Given the description of an element on the screen output the (x, y) to click on. 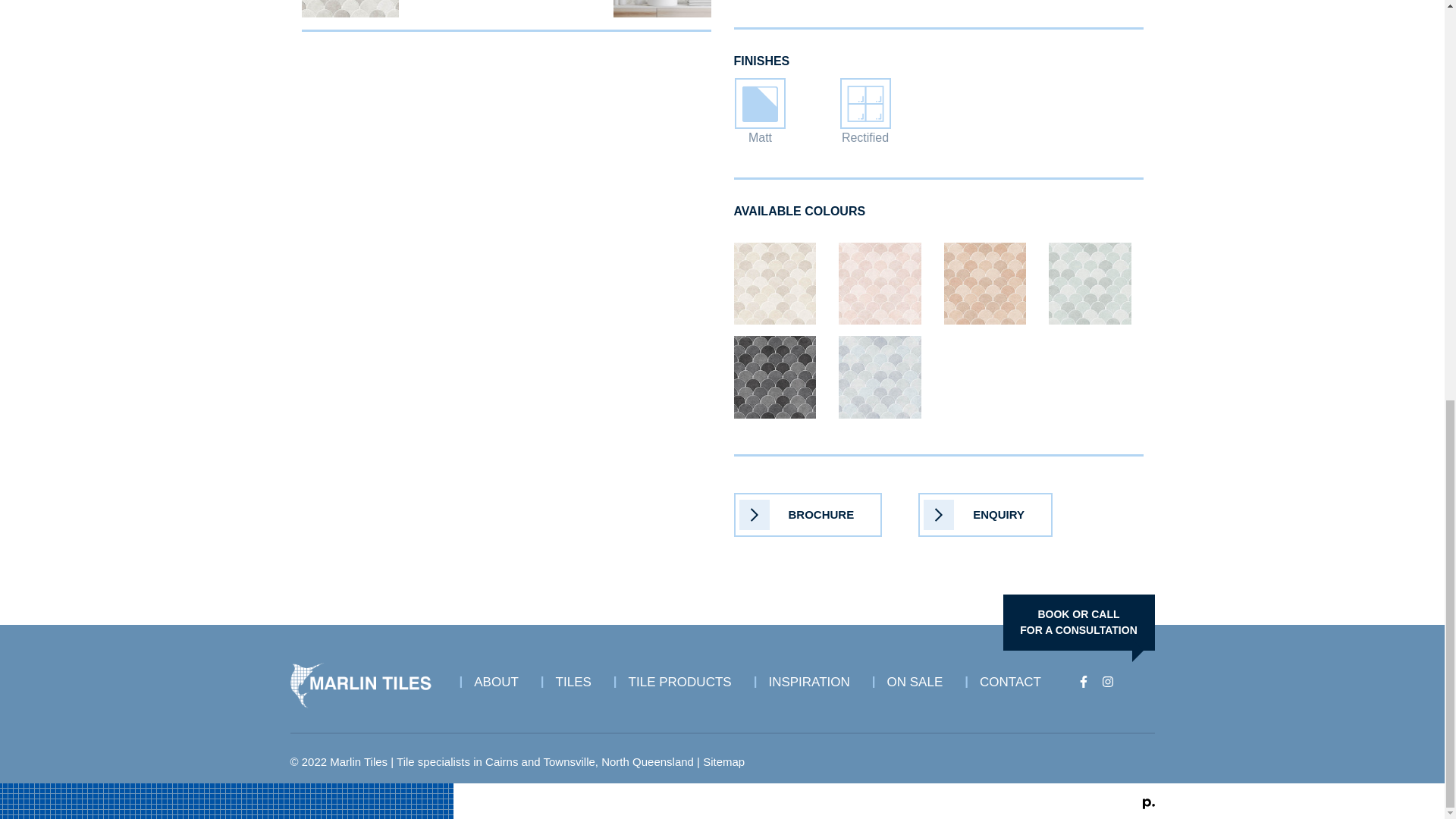
TILES (579, 677)
ON SALE (920, 677)
TILE PRODUCTS (1078, 622)
ABOUT (685, 677)
BROCHURE (501, 677)
ENQUIRY (807, 515)
INSPIRATION (985, 515)
CONTACT (815, 677)
